Given the description of an element on the screen output the (x, y) to click on. 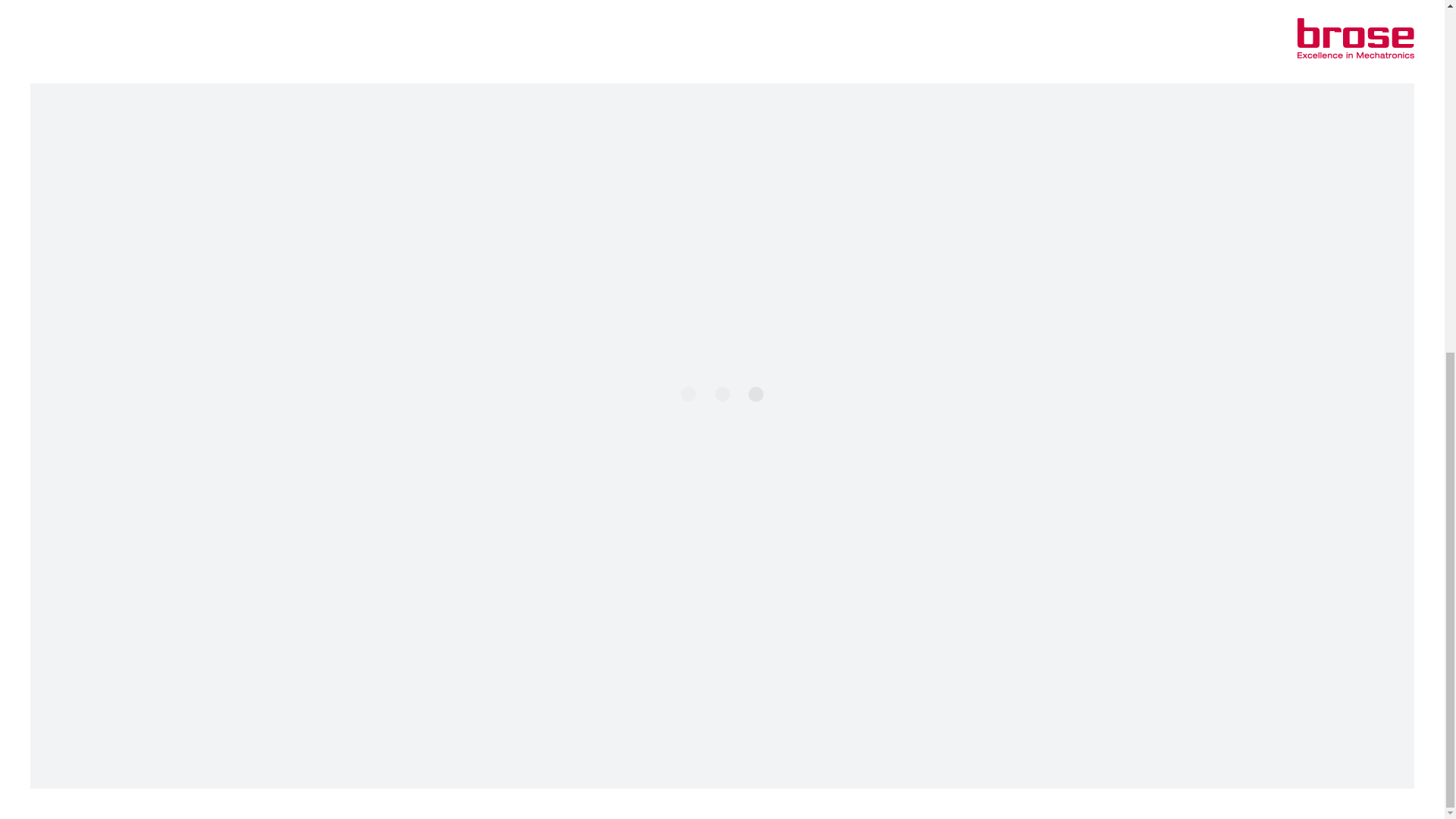
Xing (1193, 791)
YouTube (1242, 791)
LinkedIn (1217, 791)
Instagram (1142, 791)
Twitter (1167, 791)
Facebook (1117, 791)
